Given the description of an element on the screen output the (x, y) to click on. 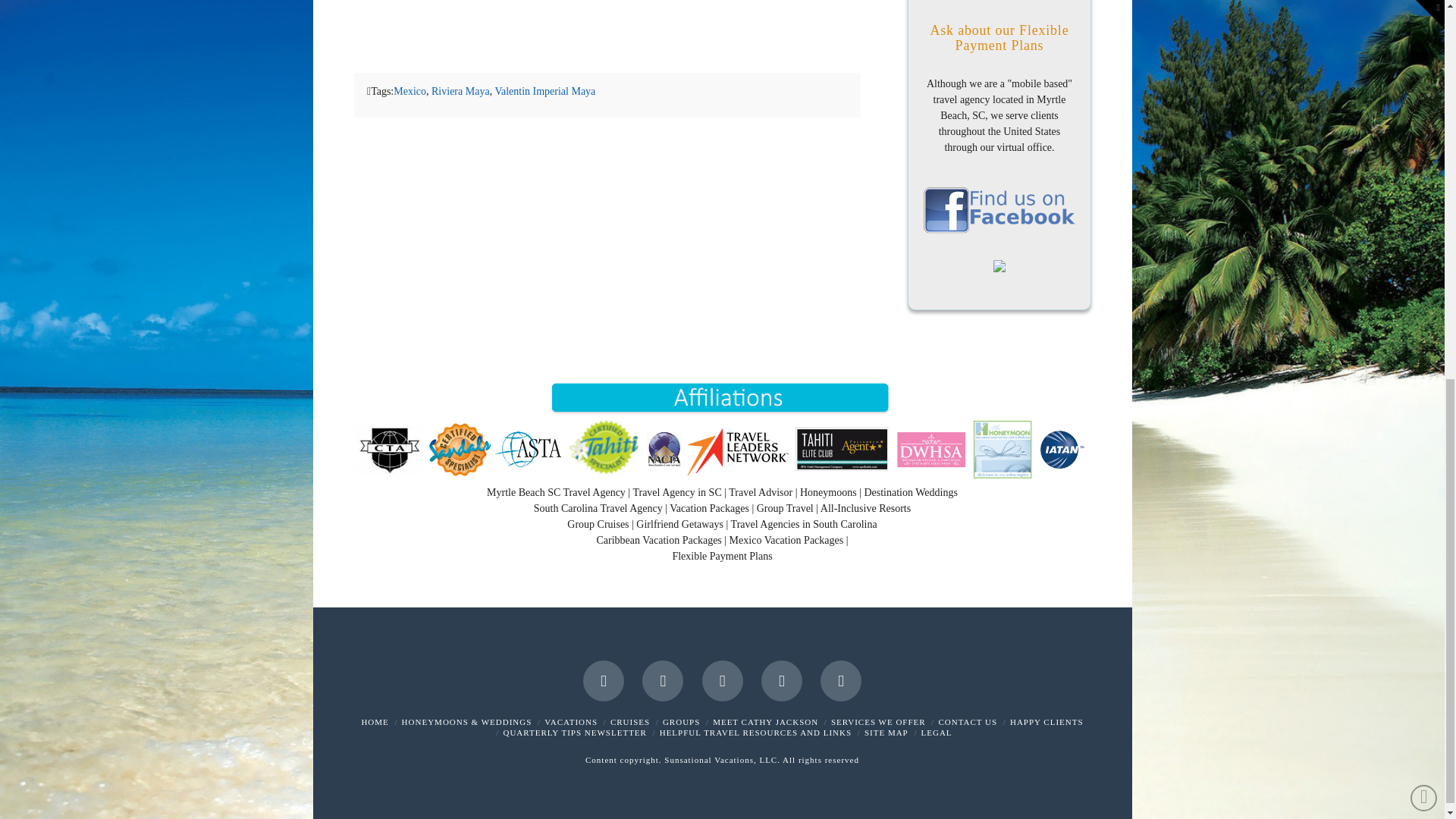
Facebook (603, 680)
Pinterest (841, 680)
Instagram (781, 680)
Back to Top (1423, 85)
LinkedIn (721, 680)
